Given the description of an element on the screen output the (x, y) to click on. 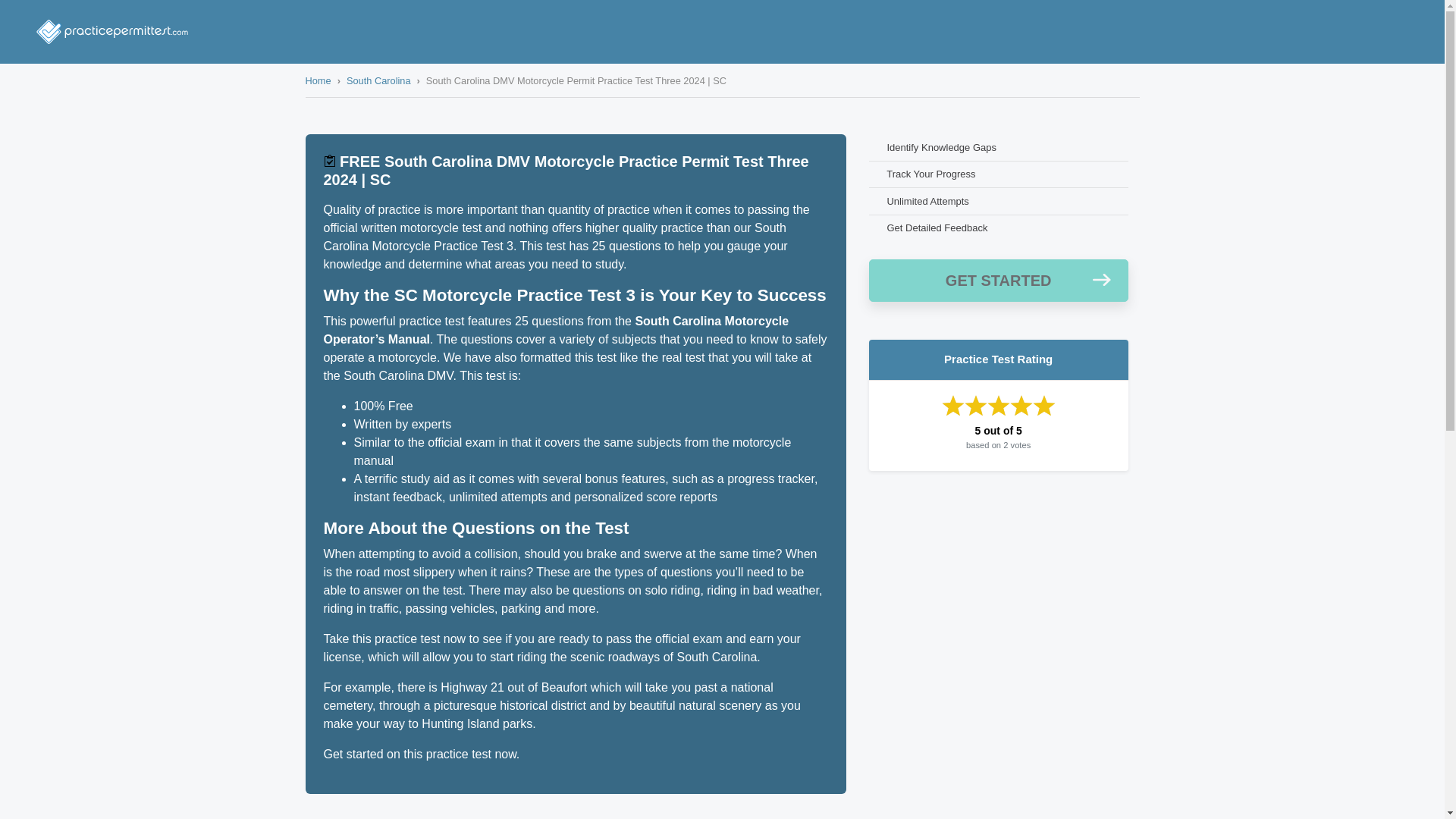
Home (317, 79)
GET STARTED (998, 280)
PracticePermitTest.com (111, 31)
South Carolina (378, 79)
This test is based on the official 2024 CDL Manual (328, 160)
